Given the description of an element on the screen output the (x, y) to click on. 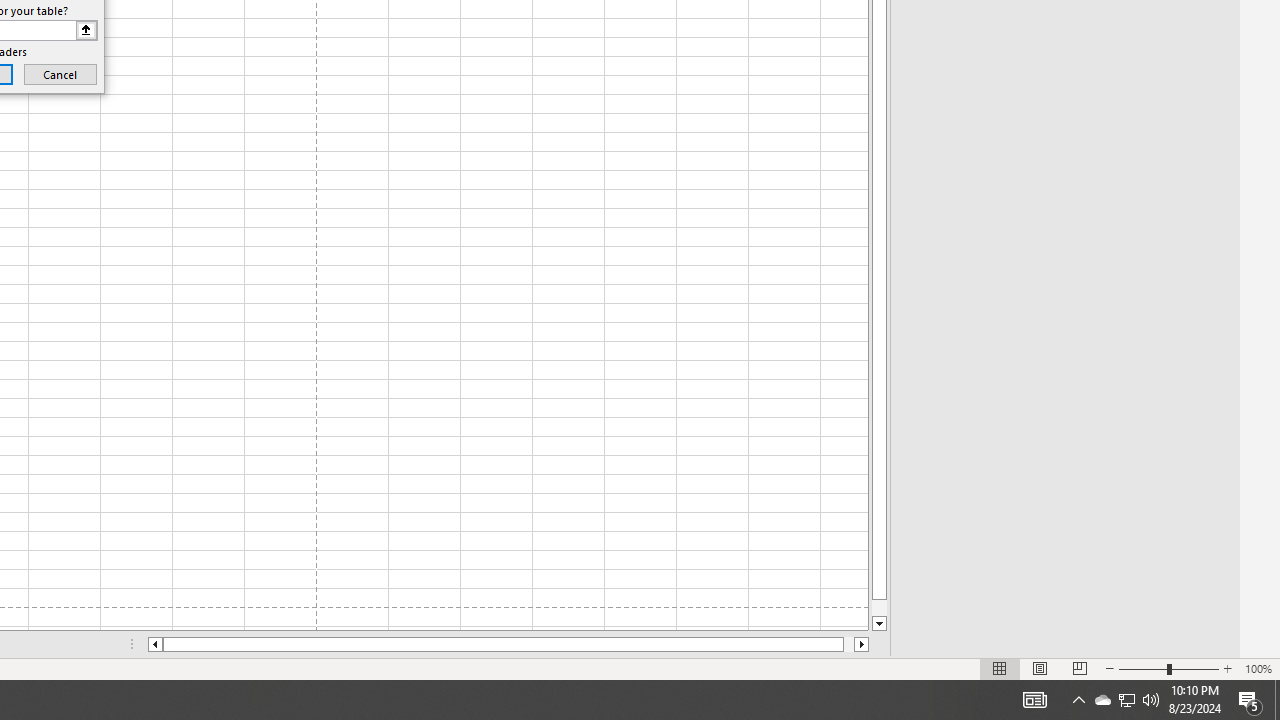
Zoom Out (1142, 668)
Column left (153, 644)
Page Break Preview (1079, 668)
Zoom (1168, 668)
Zoom In (1227, 668)
Column right (861, 644)
Page right (848, 644)
Line down (879, 624)
Page down (879, 607)
Class: NetUIScrollBar (507, 644)
Normal (1000, 668)
